Given the description of an element on the screen output the (x, y) to click on. 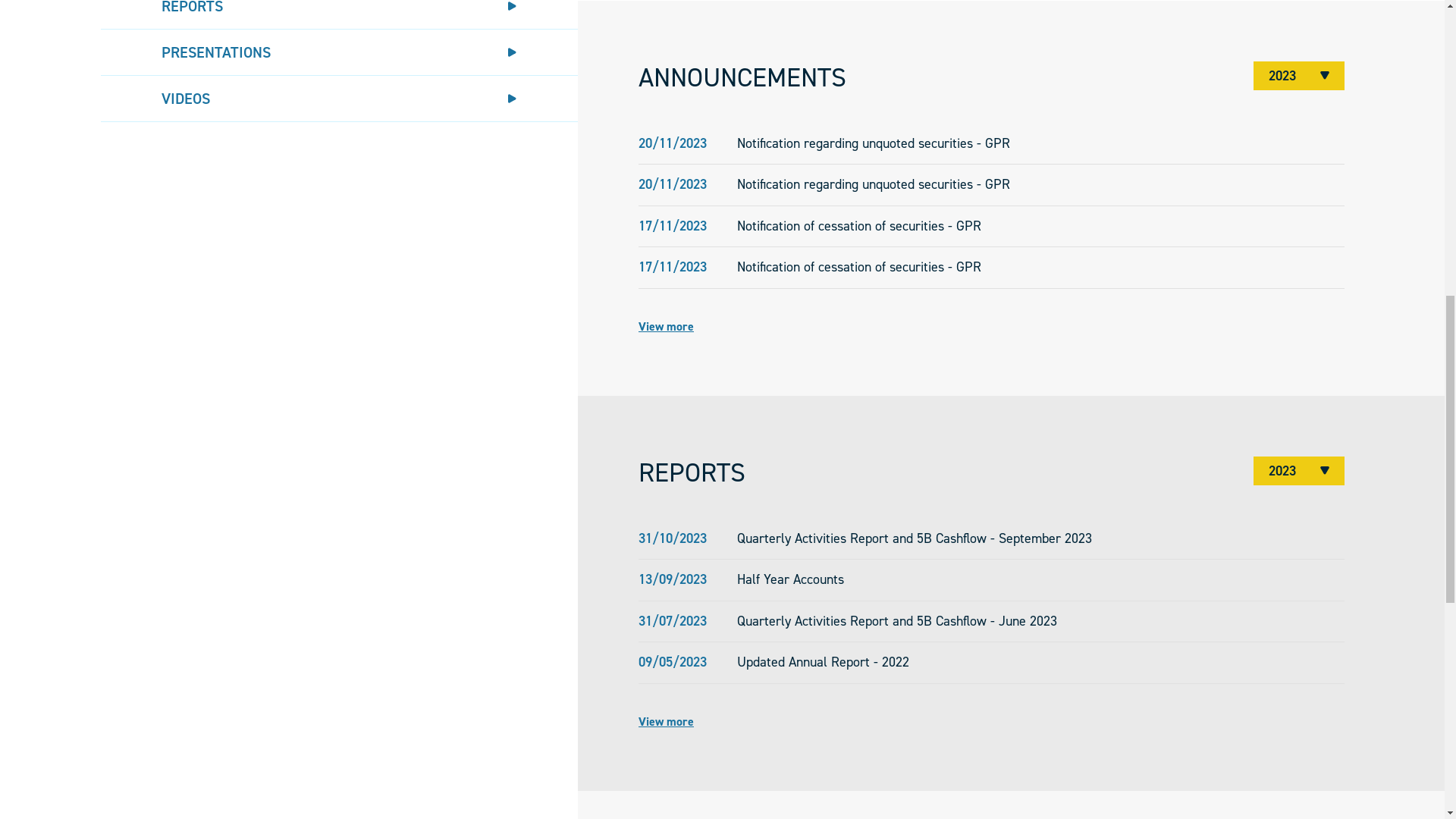
SHARE PRICE Element type: text (338, 673)
PROJECT UPDATE Element type: text (288, 567)
ABOUT US Element type: text (395, 49)
ANNOUNCEMENTS Element type: text (338, 720)
SUBSCRIBE TO UPDATES Element type: text (1263, 48)
EXPLORATION Element type: text (664, 49)
LATEST INVESTOR PRESENTATION Element type: text (288, 492)
CONTACT Element type: text (924, 49)
OUR COMMUNITIES Element type: text (524, 49)
INVESTOR CENTRE Element type: text (800, 49)
REPORTS Element type: text (338, 766)
